Given the description of an element on the screen output the (x, y) to click on. 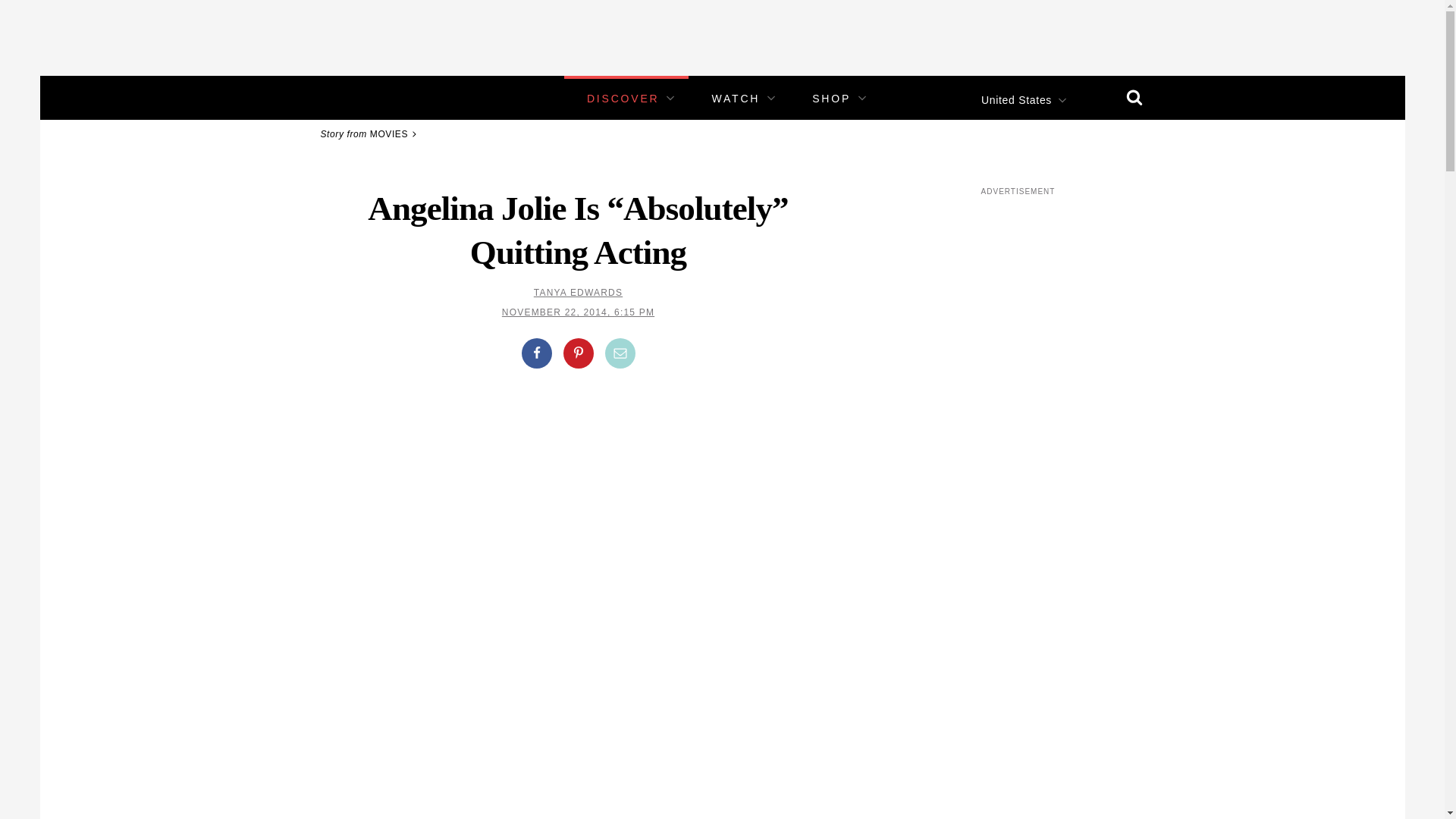
WATCH (735, 98)
NOVEMBER 22, 2014, 6:15 PM (577, 312)
DISCOVER (622, 98)
Share on Pinterest (577, 353)
TANYA EDWARDS (578, 292)
SHOP (831, 98)
Share by Email (619, 353)
Story from MOVIES (371, 133)
Refinery29 (352, 97)
